Given the description of an element on the screen output the (x, y) to click on. 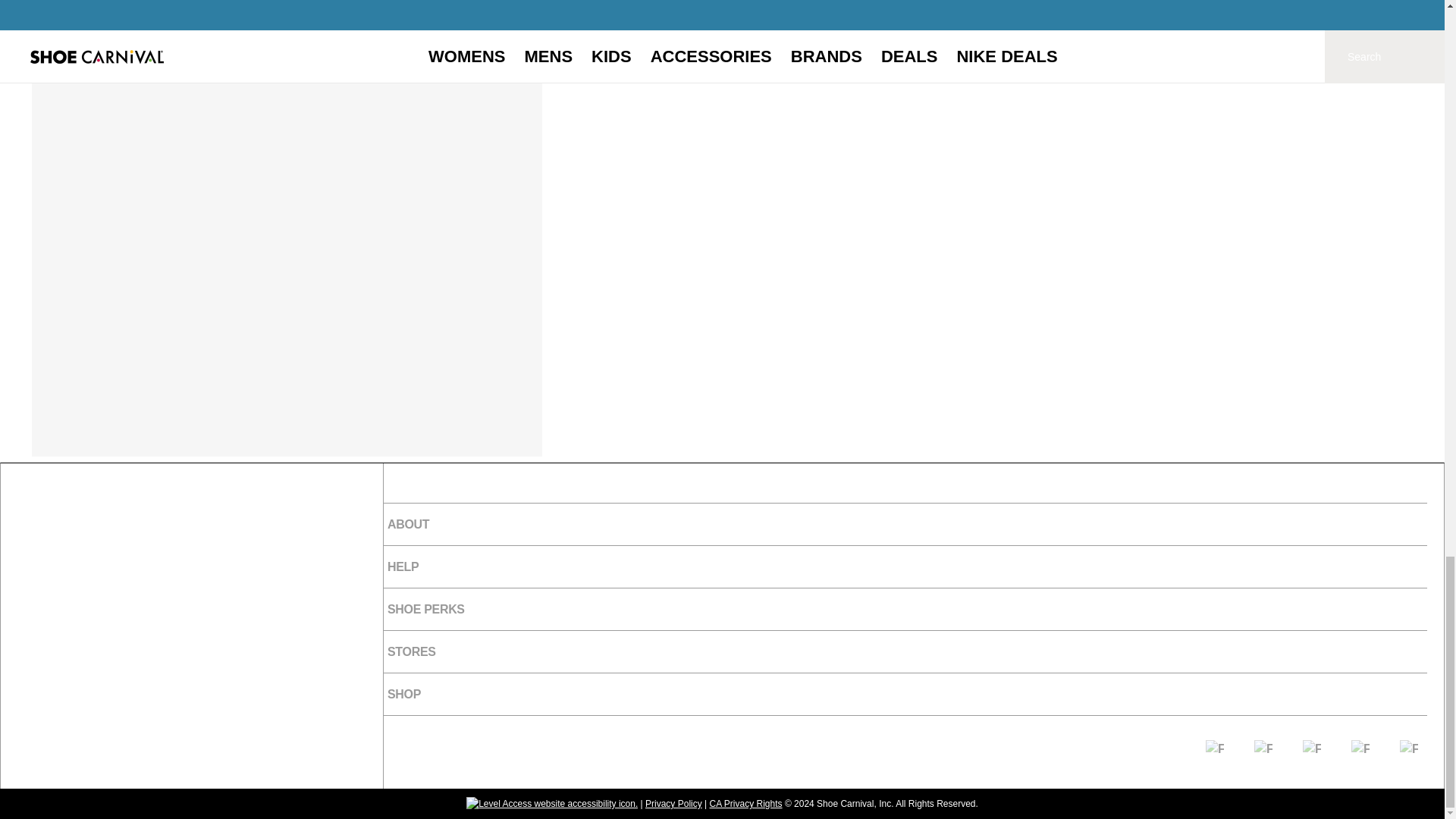
ABOUT (905, 524)
Shoe Carnival Privacy Policy (673, 803)
